Given the description of an element on the screen output the (x, y) to click on. 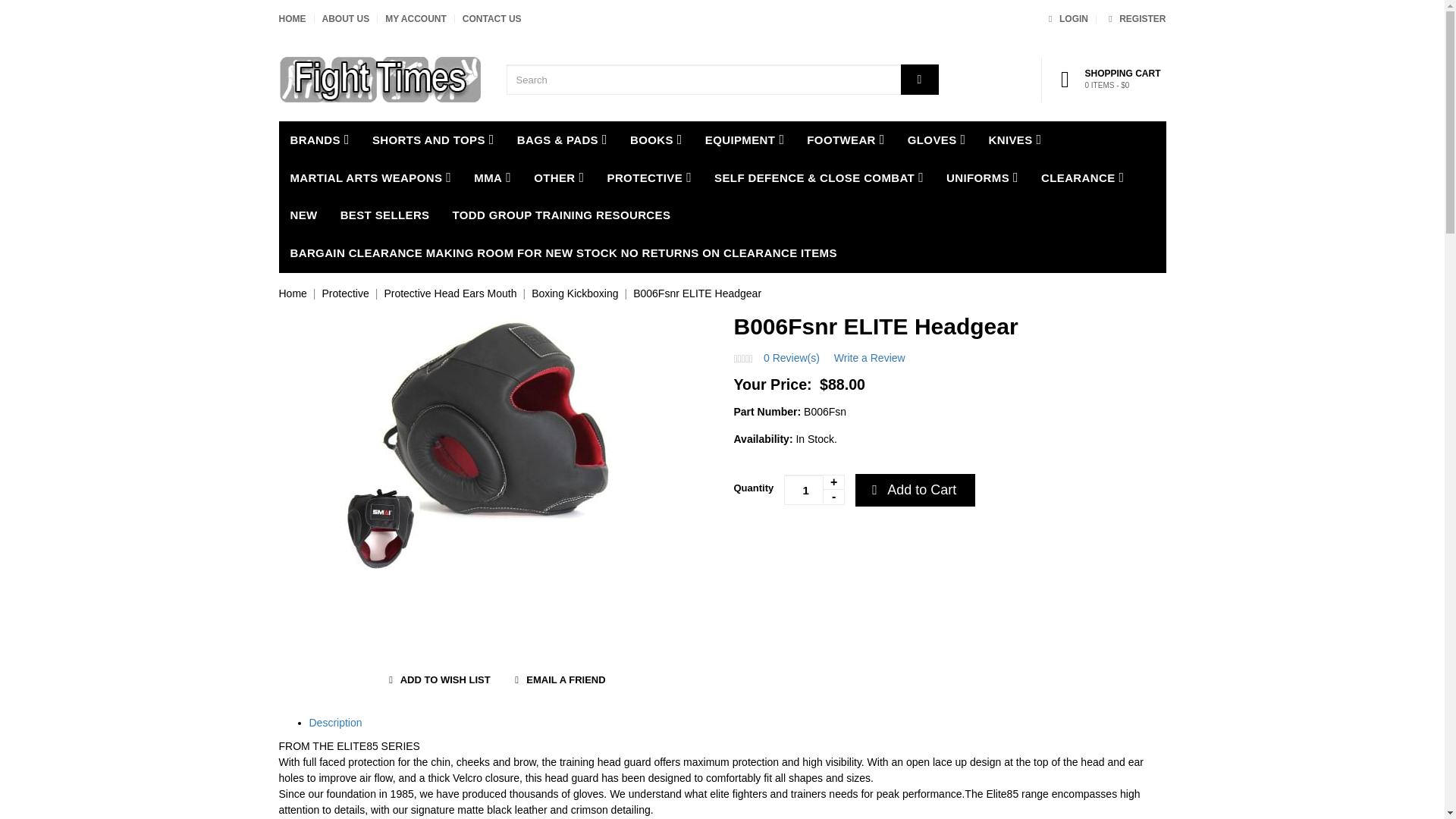
ABOUT US (345, 18)
HOME (292, 18)
MY ACCOUNT (415, 18)
LOGIN (1065, 18)
1 (814, 490)
SHORTS AND TOPS (433, 139)
BRANDS (320, 139)
BOOKS (656, 139)
REGISTER (1134, 18)
CONTACT US (492, 18)
